Given the description of an element on the screen output the (x, y) to click on. 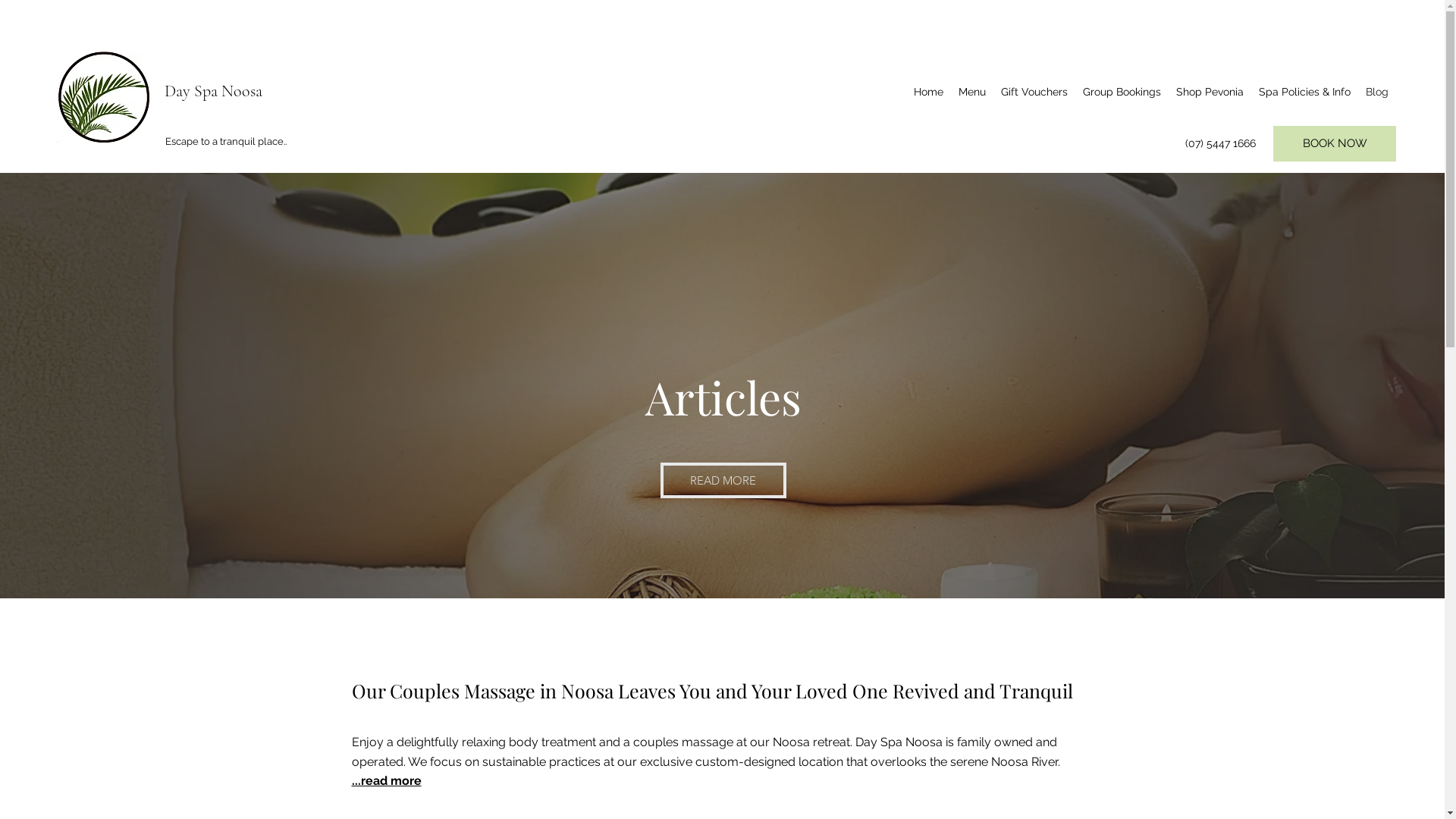
Blog Element type: text (1377, 91)
Home Element type: text (928, 91)
Gift Vouchers Element type: text (1034, 91)
Group Bookings Element type: text (1121, 91)
Spa Policies & Info Element type: text (1304, 91)
BOOK NOW Element type: text (1334, 143)
Shop Pevonia Element type: text (1209, 91)
Day Spa Noosa Element type: text (213, 90)
READ MORE Element type: text (722, 480)
...read more Element type: text (386, 780)
